Given the description of an element on the screen output the (x, y) to click on. 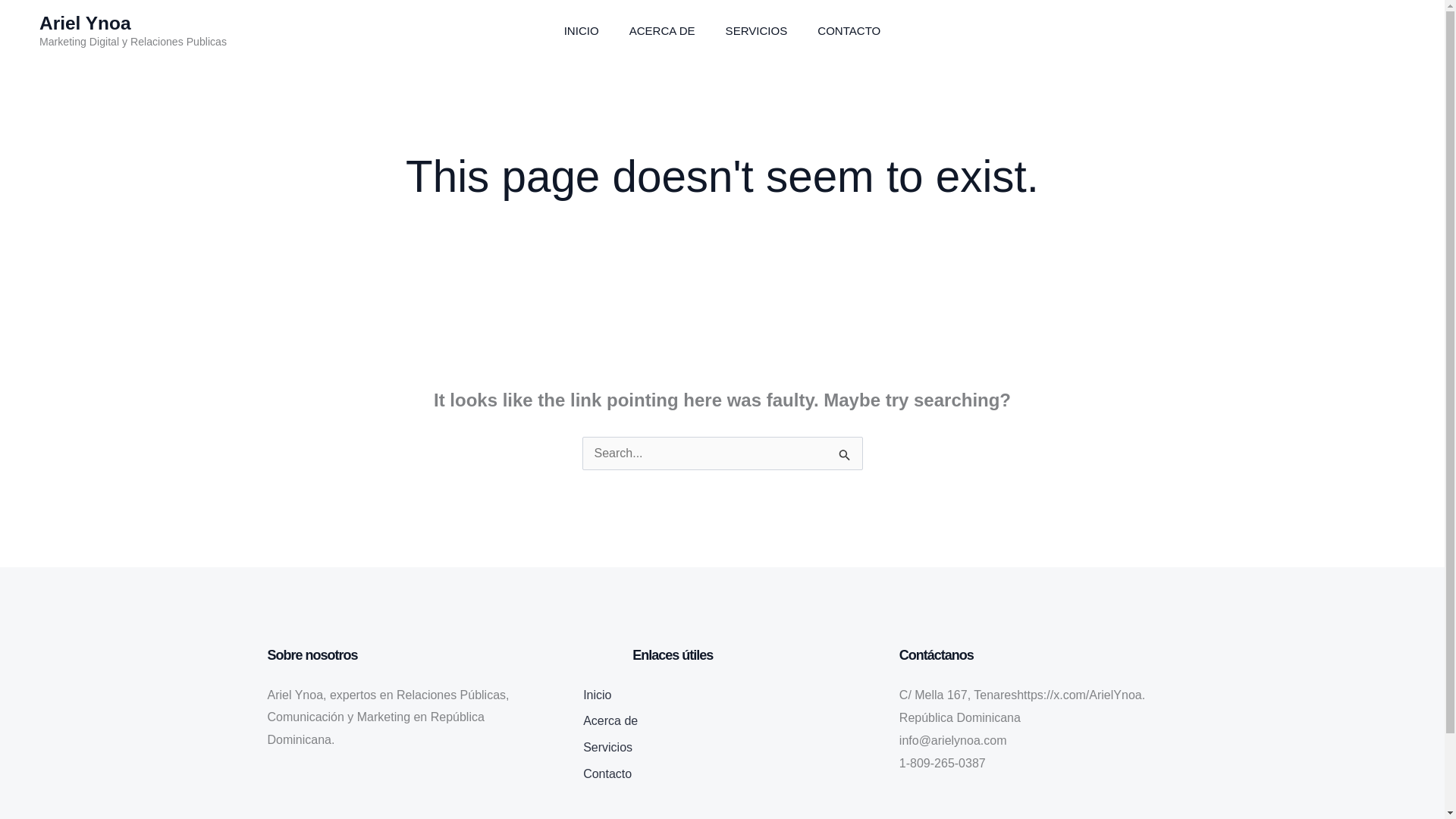
Ariel Ynoa (85, 23)
Inicio (597, 696)
ACERCA DE (662, 30)
Contacto (607, 775)
SERVICIOS (756, 30)
Search (844, 456)
Servicios (607, 749)
CONTACTO (848, 30)
Search (844, 456)
Acerca de (610, 723)
INICIO (581, 30)
Search (844, 456)
